Given the description of an element on the screen output the (x, y) to click on. 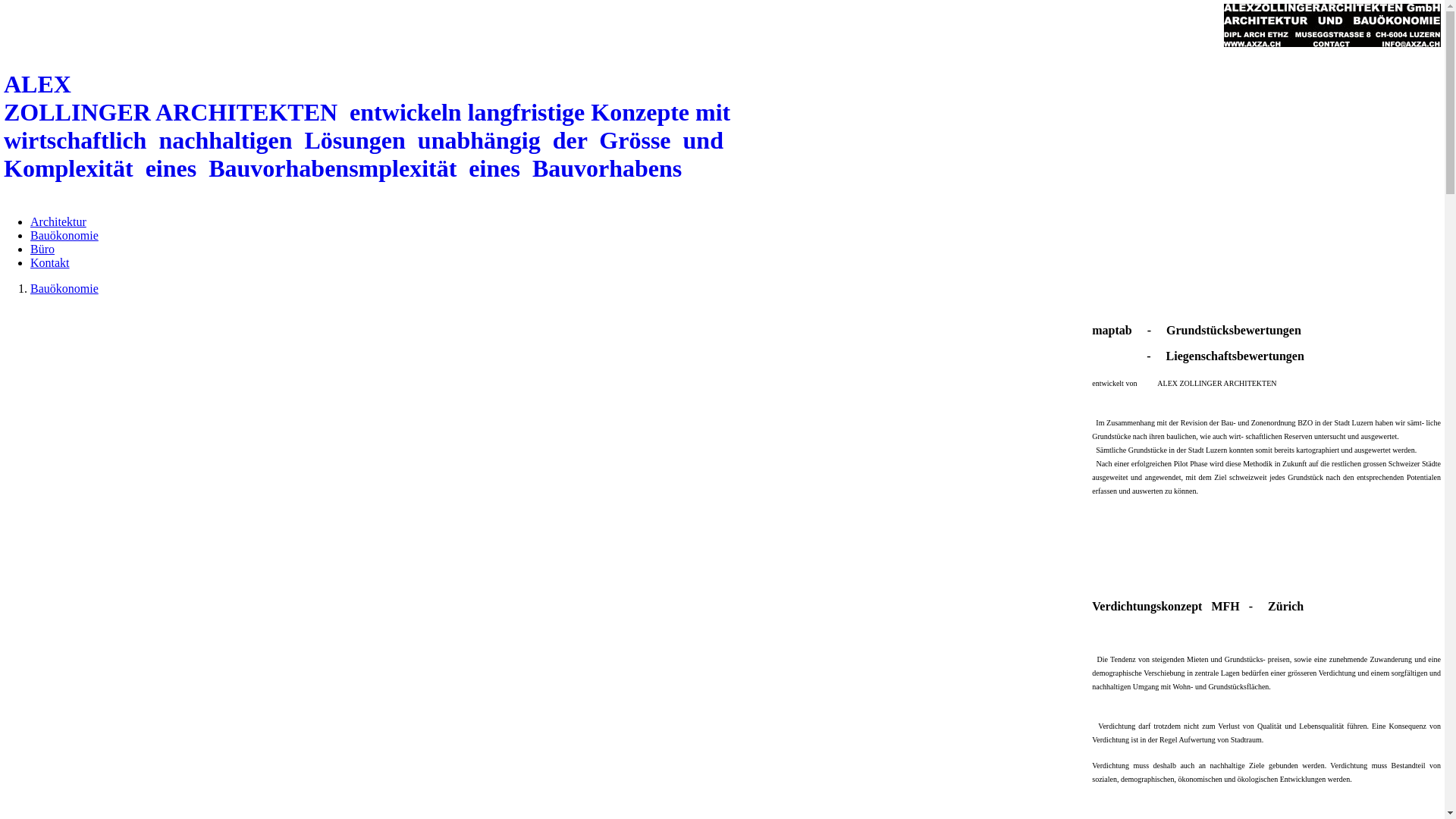
Kontakt Element type: text (49, 262)
Architektur Element type: text (58, 221)
